Given the description of an element on the screen output the (x, y) to click on. 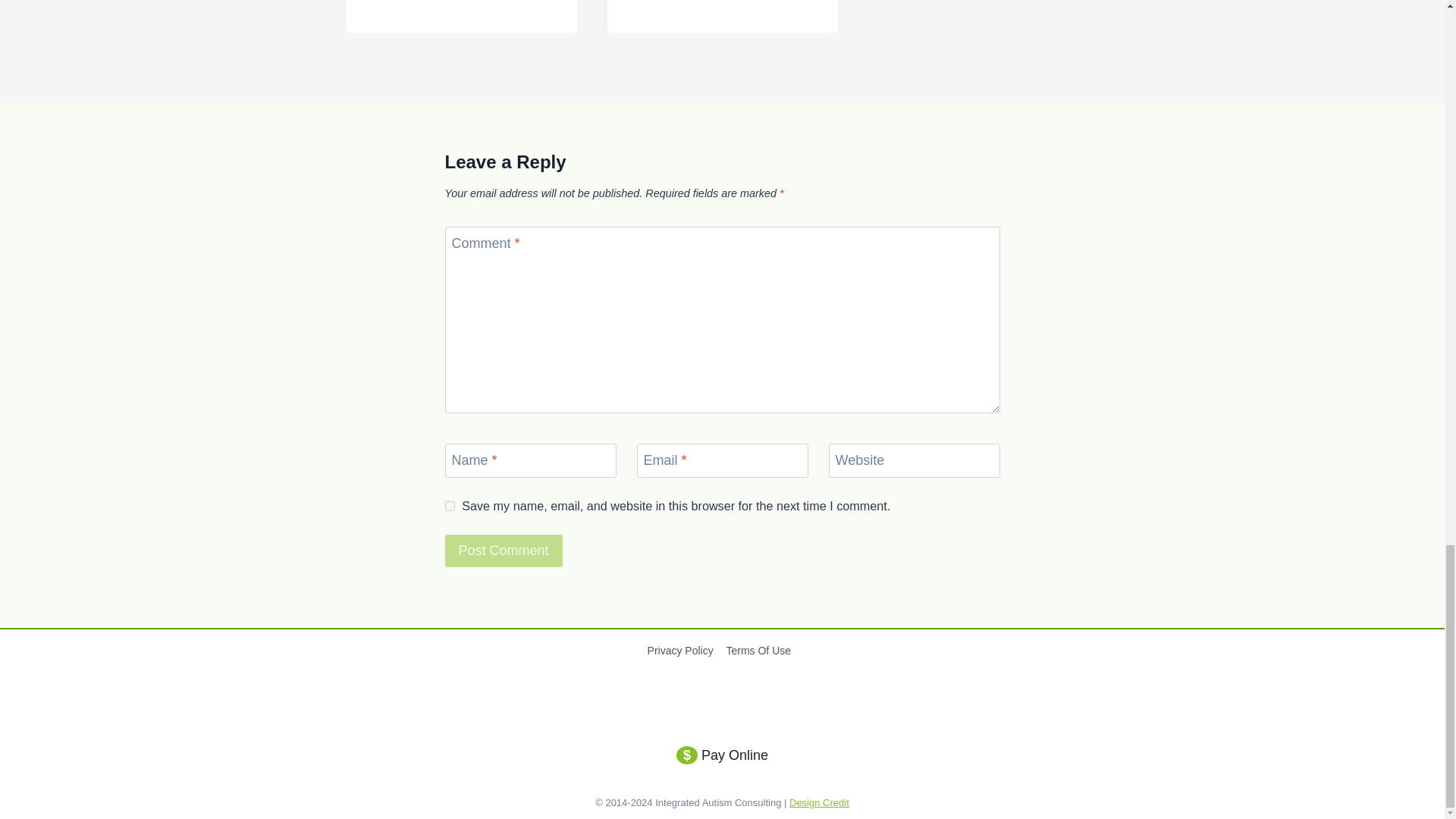
Post Comment (503, 550)
yes (449, 506)
